Given the description of an element on the screen output the (x, y) to click on. 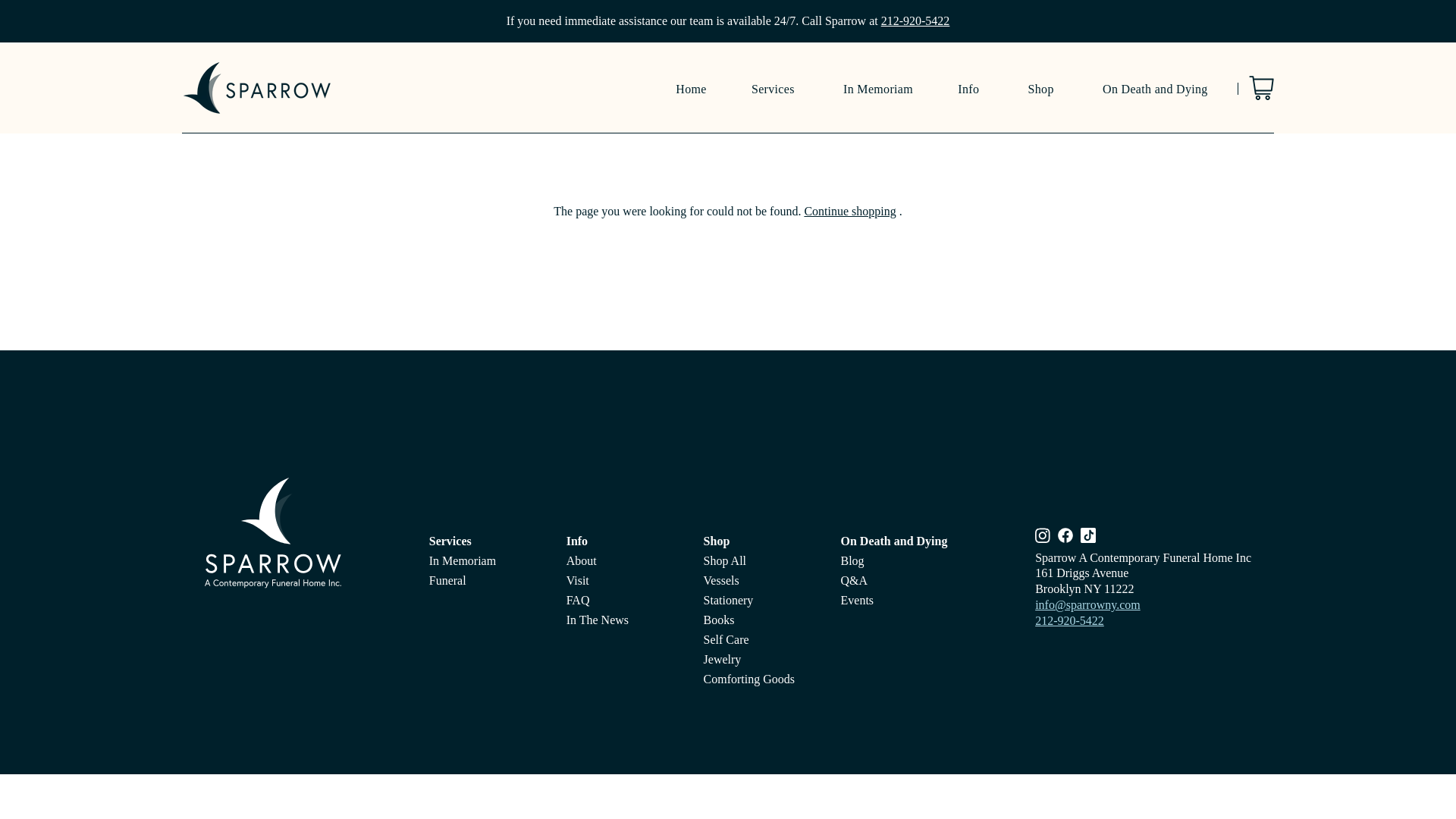
Home (690, 87)
212-920-5422 (915, 20)
In Memoriam (877, 87)
